Given the description of an element on the screen output the (x, y) to click on. 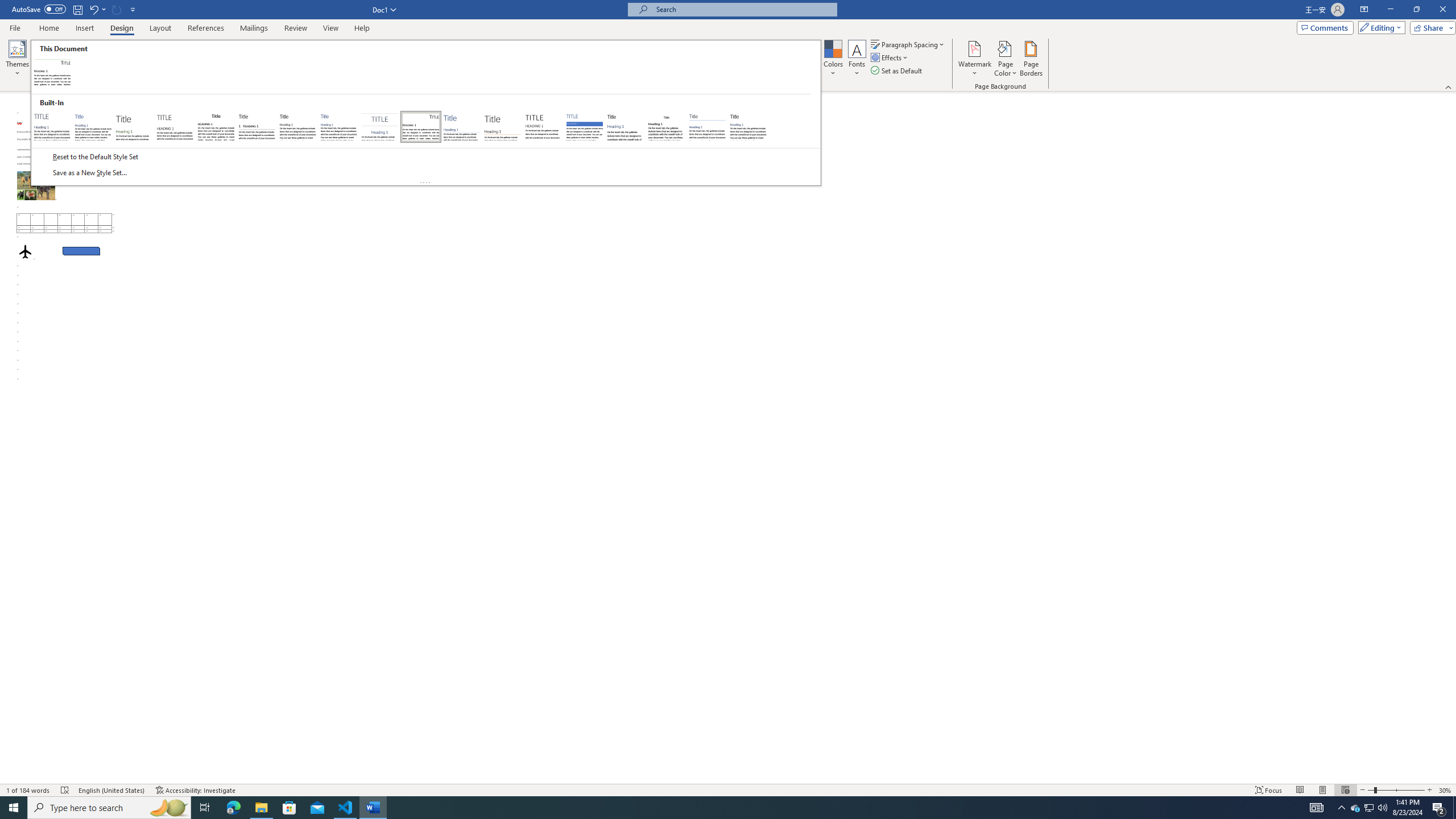
Watermark (974, 58)
